Given the description of an element on the screen output the (x, y) to click on. 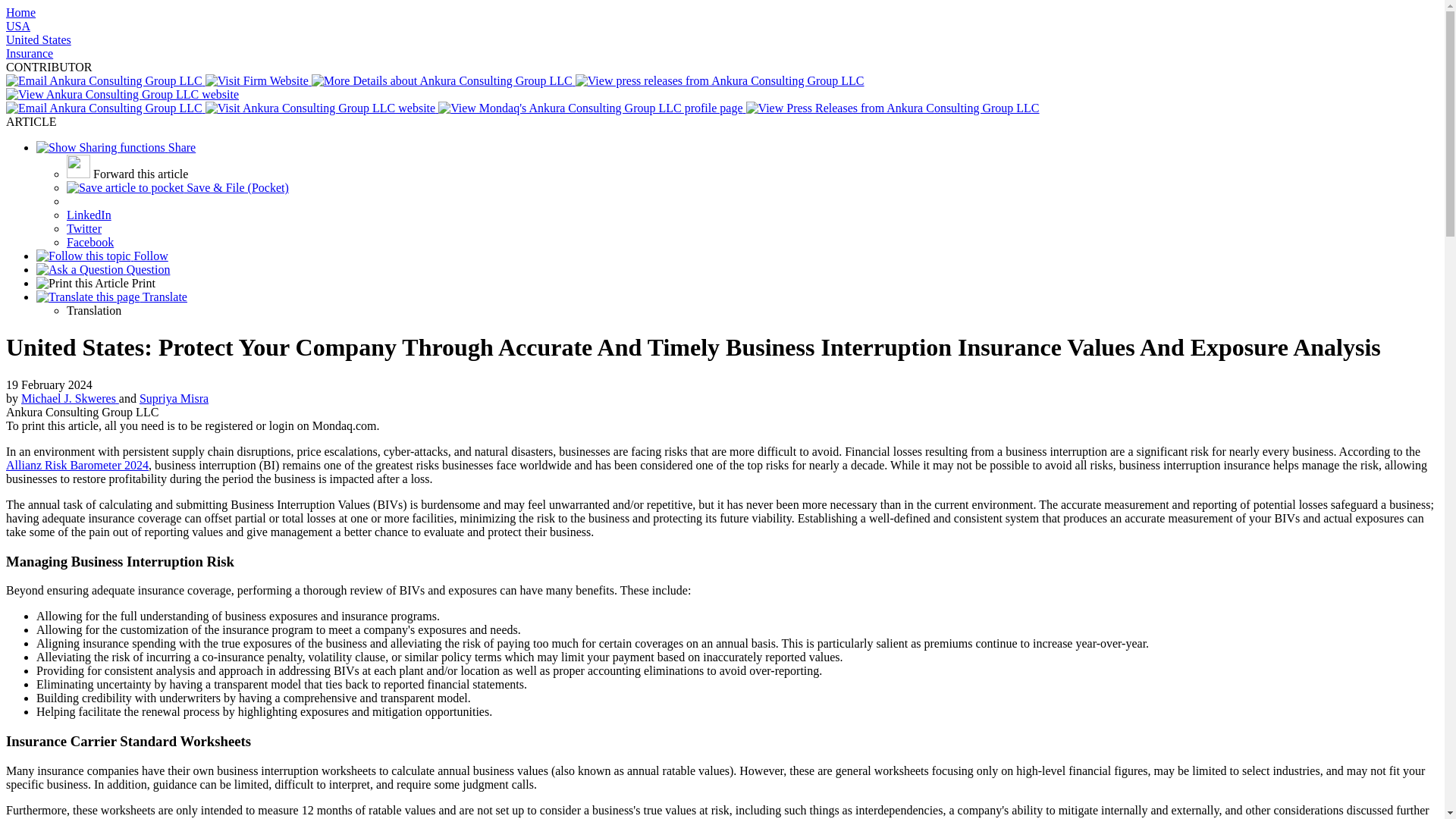
Insurance (28, 52)
Translate (111, 296)
Email Ankura Consulting Group LLC (105, 80)
Allianz Risk Barometer 2024 (76, 464)
Visit Ankura Consulting Group LLC  website (321, 107)
Follow (102, 255)
Filter only by Insurance (28, 52)
Forward this article (126, 173)
Home (19, 11)
View this authors biography on their website (173, 398)
